Given the description of an element on the screen output the (x, y) to click on. 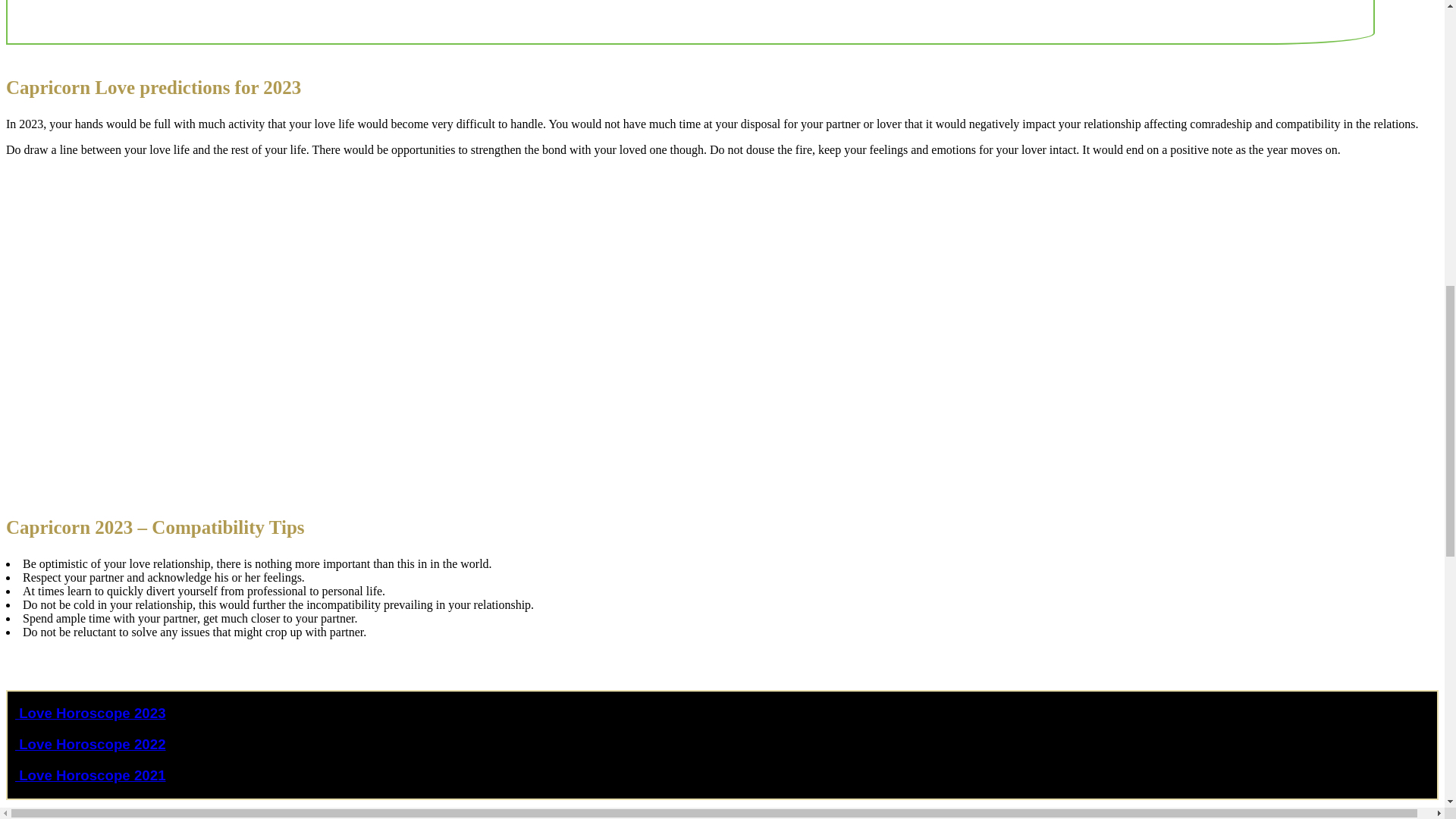
 Love Horoscope 2022 (89, 744)
 Love Horoscope 2023 (89, 713)
 Love Horoscope 2021 (89, 774)
